Given the description of an element on the screen output the (x, y) to click on. 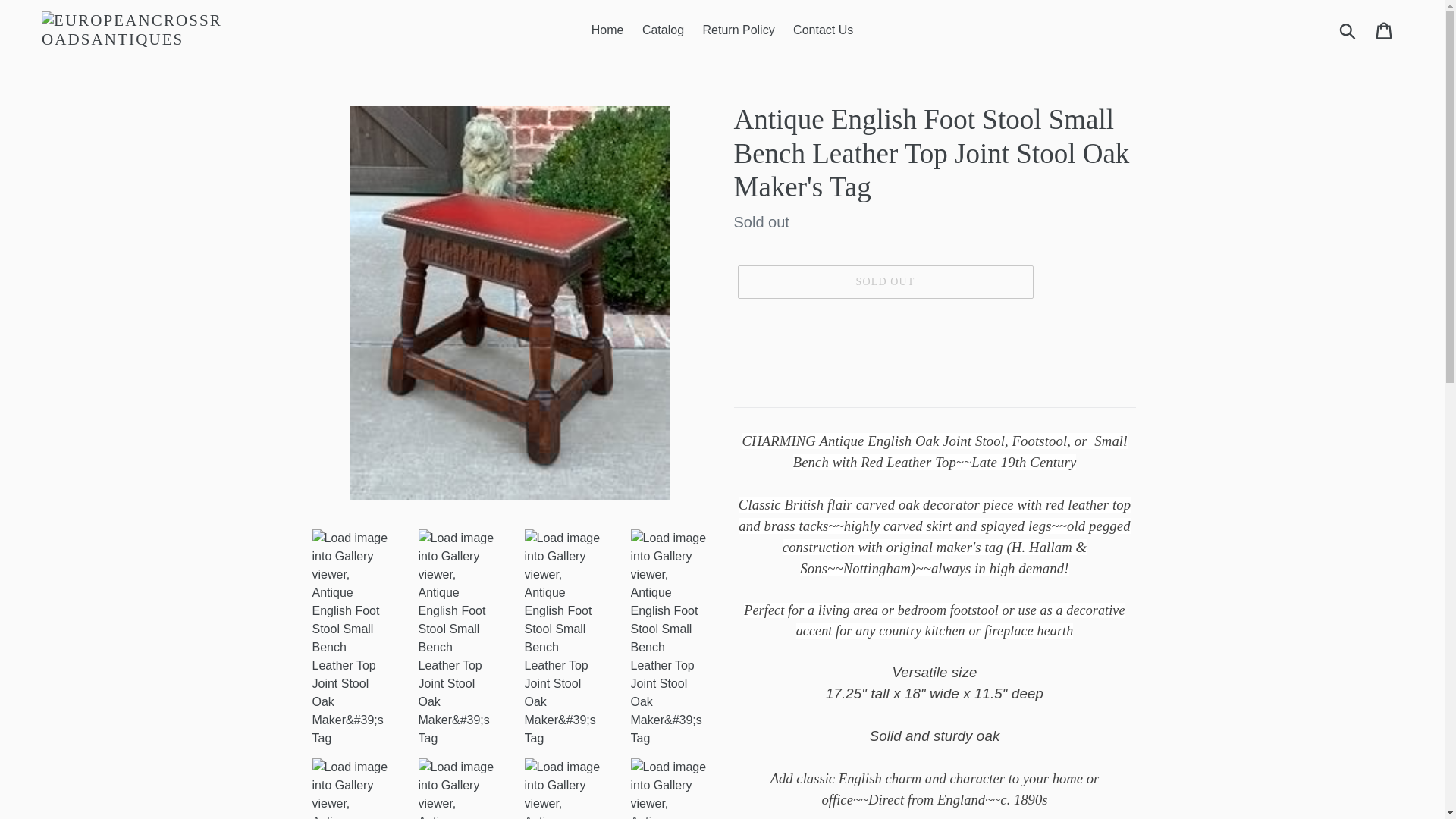
Submit (1348, 29)
SOLD OUT (884, 281)
Cart (1385, 29)
Catalog (662, 29)
Home (607, 29)
Contact Us (823, 29)
Return Policy (737, 29)
